Given the description of an element on the screen output the (x, y) to click on. 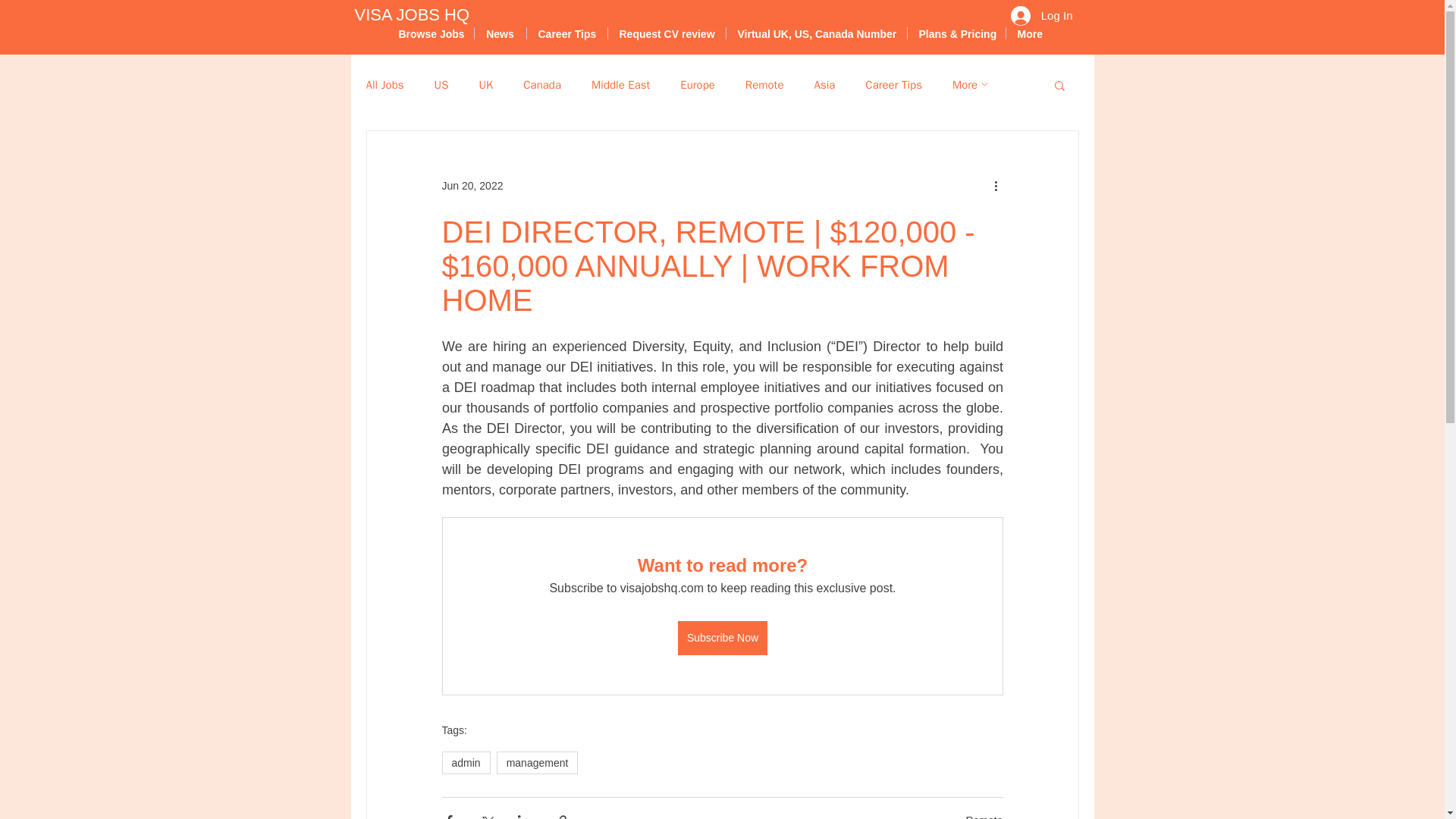
Europe (696, 83)
All Jobs (384, 83)
Log In (1041, 15)
Career Tips (566, 33)
admin (465, 762)
Middle East (620, 83)
Subscribe Now (722, 637)
Career Tips (892, 83)
management (537, 762)
Remote (764, 83)
UK (486, 83)
Asia (823, 83)
Jun 20, 2022 (471, 184)
Canada (541, 83)
VISA JOBS HQ (412, 15)
